Given the description of an element on the screen output the (x, y) to click on. 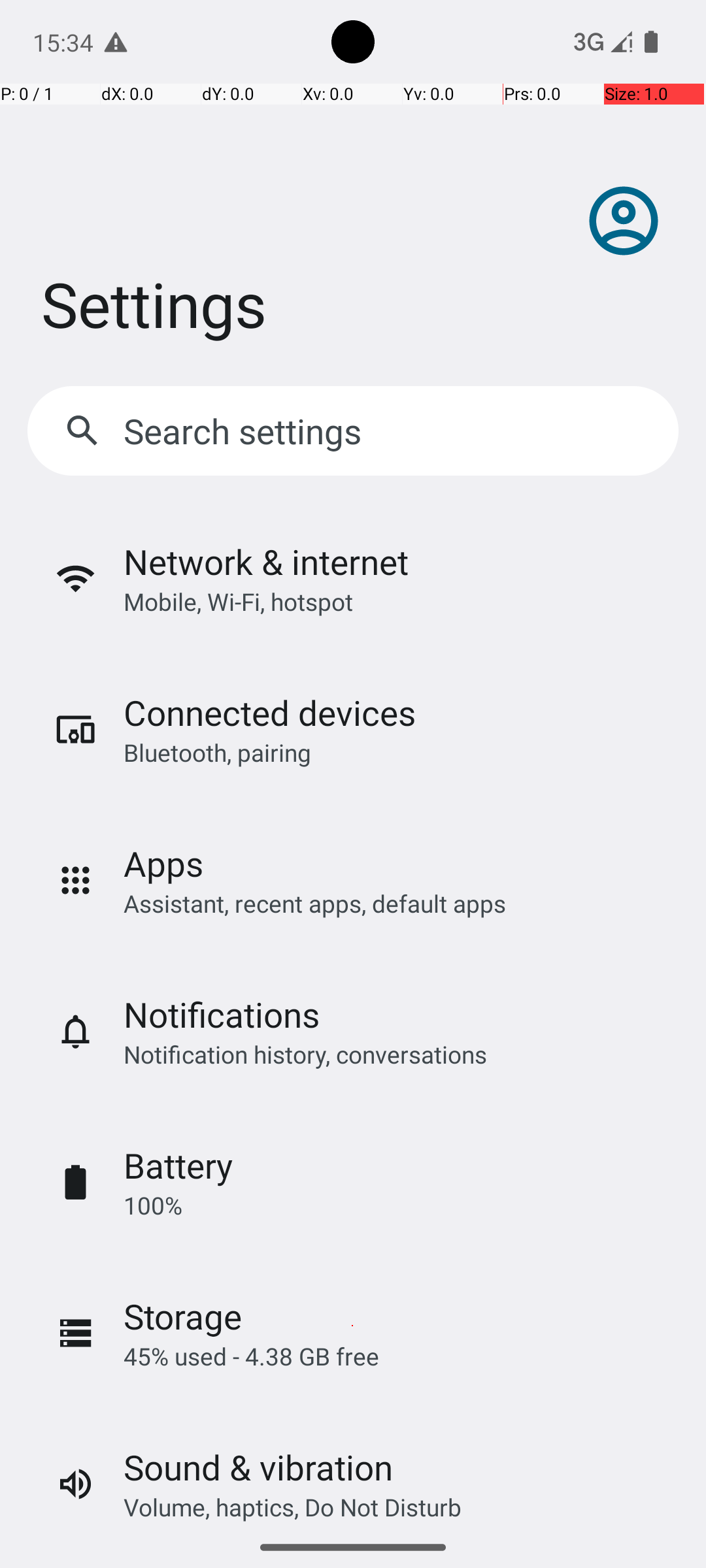
45% used - 4.38 GB free Element type: android.widget.TextView (251, 1355)
